Given the description of an element on the screen output the (x, y) to click on. 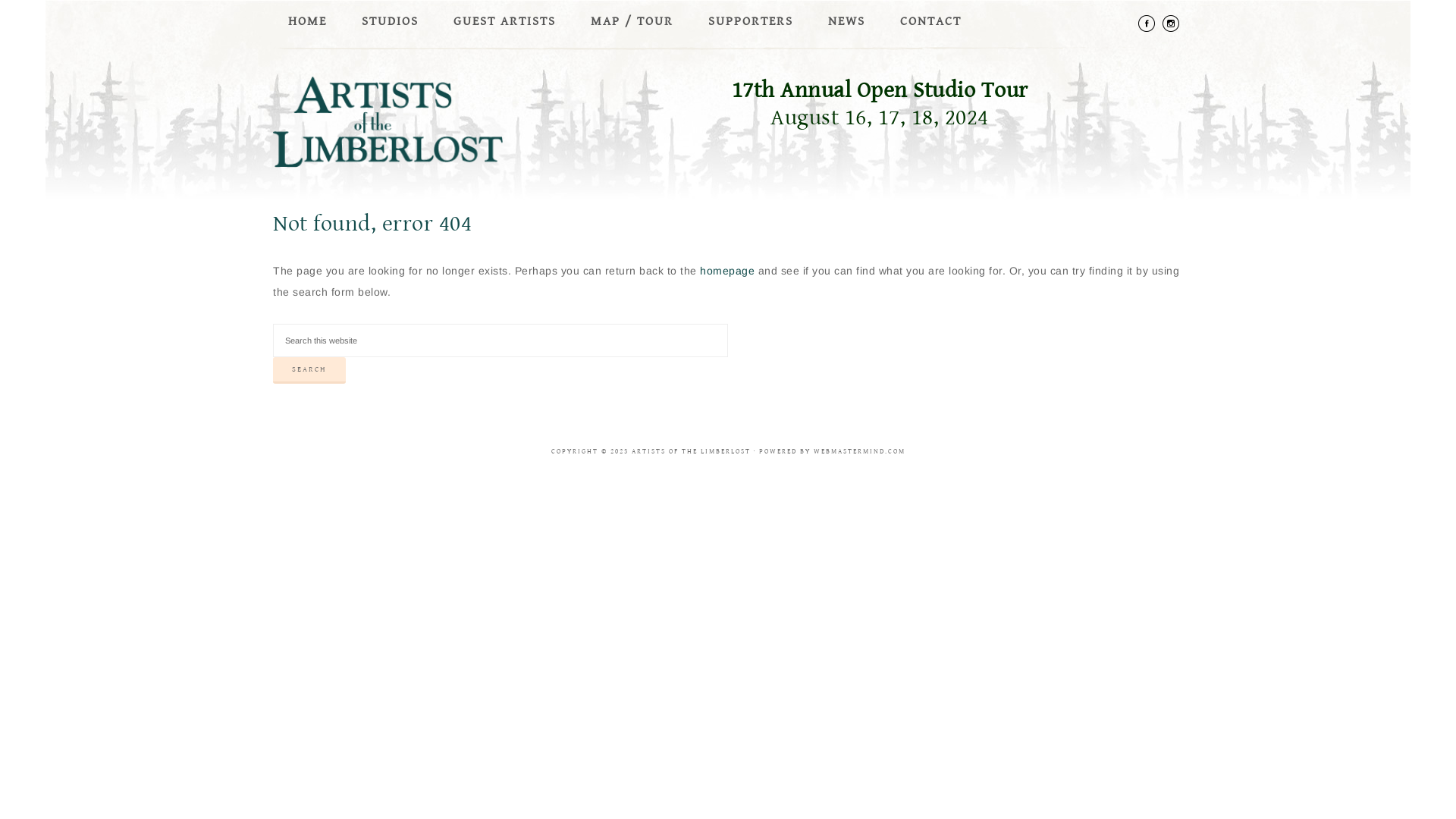
NEWS Element type: text (846, 21)
MAP / TOUR Element type: text (631, 21)
SUPPORTERS Element type: text (750, 21)
CONTACT Element type: text (930, 21)
GUEST ARTISTS Element type: text (504, 21)
Search Element type: text (309, 370)
HOME Element type: text (307, 21)
ARTISTS OF THE LIMBERLOST Element type: text (424, 121)
STUDIOS Element type: text (389, 21)
homepage Element type: text (726, 270)
